Given the description of an element on the screen output the (x, y) to click on. 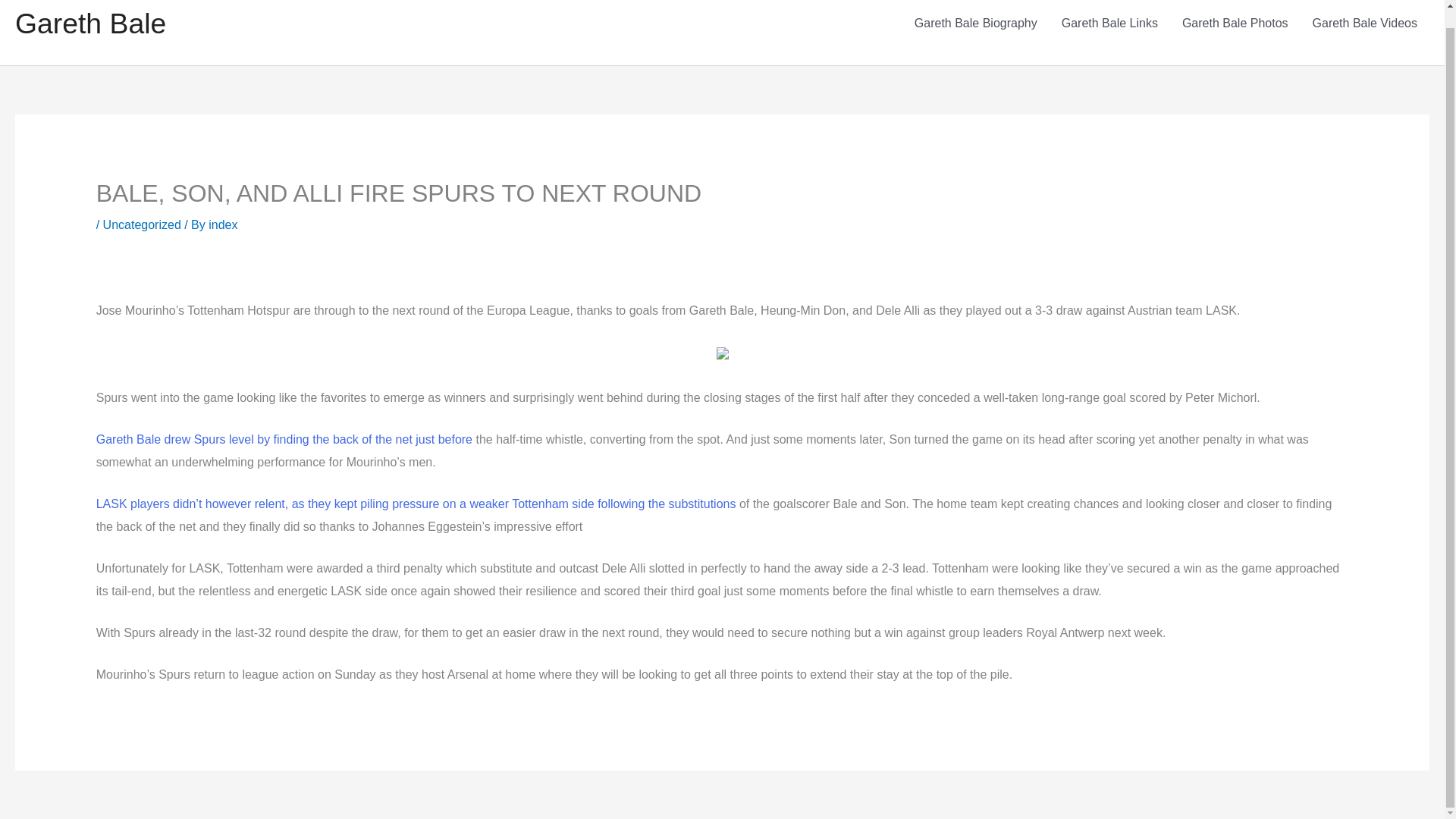
Uncategorized (141, 224)
Gareth Bale Photos (1235, 23)
Gareth Bale Biography (975, 23)
index (222, 224)
Gareth Bale Videos (1364, 23)
Gareth Bale Links (1109, 23)
View all posts by index (222, 224)
Gareth Bale (89, 23)
